Given the description of an element on the screen output the (x, y) to click on. 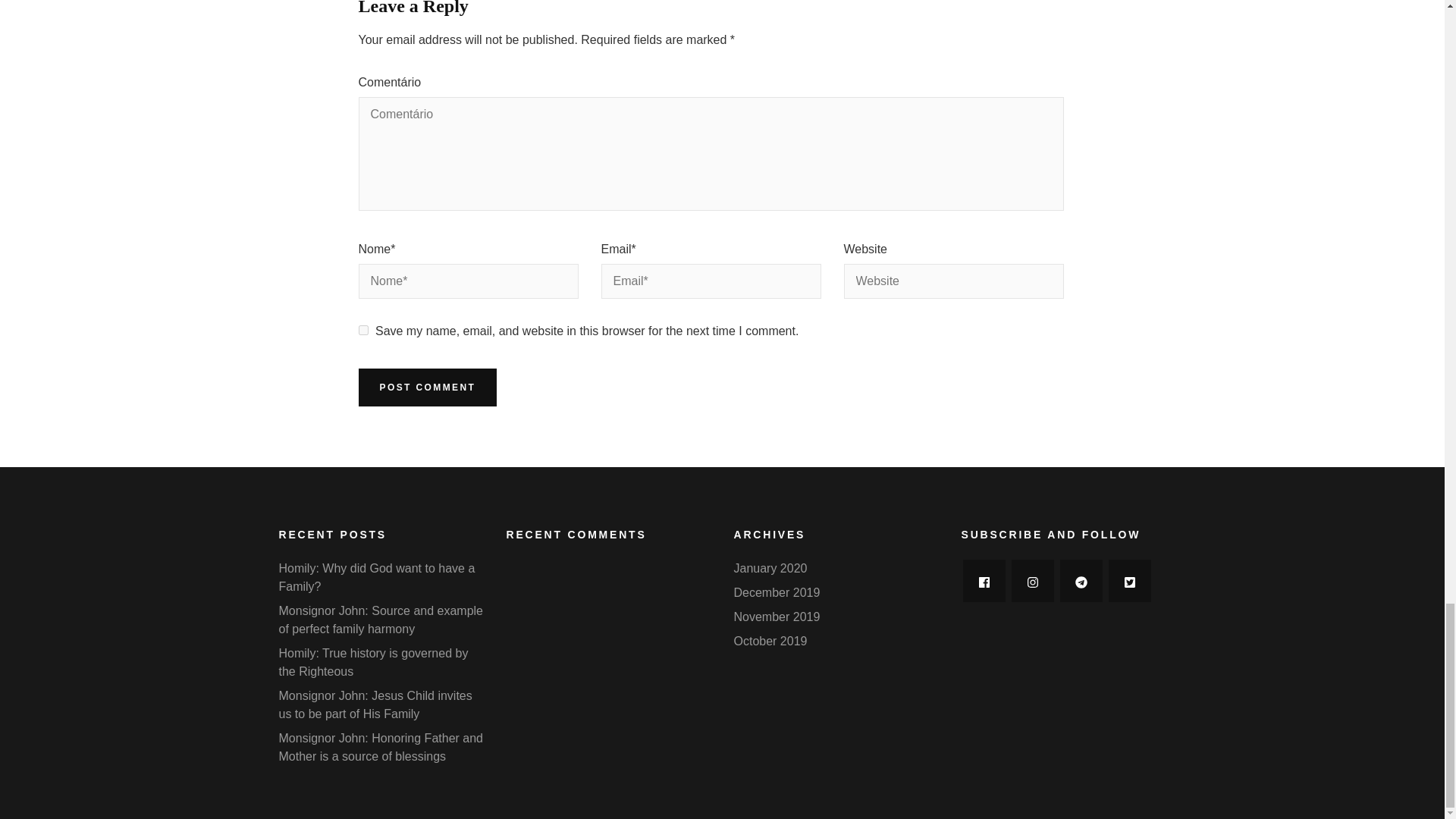
yes (363, 329)
Post Comment (427, 387)
